Given the description of an element on the screen output the (x, y) to click on. 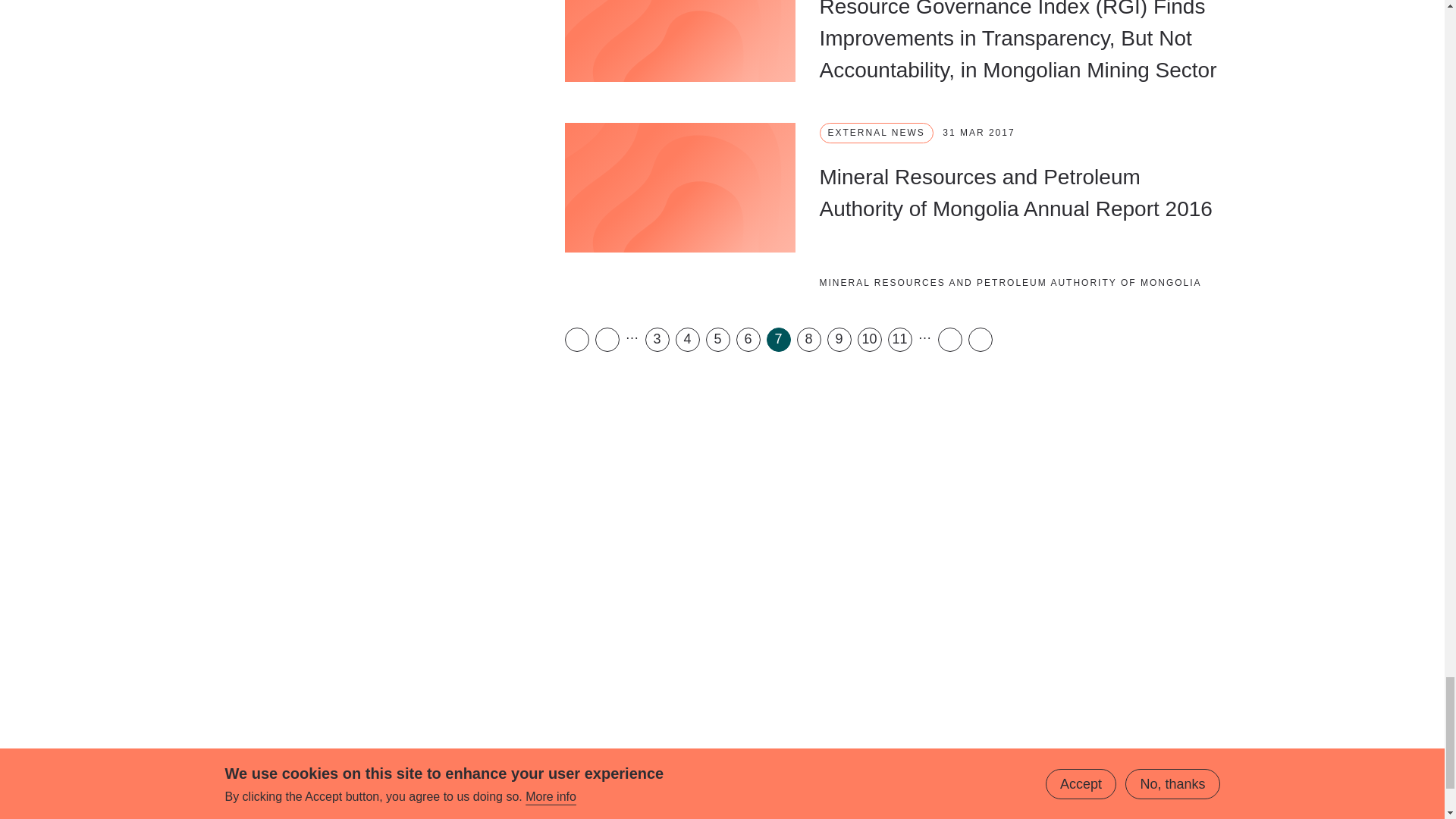
Go to page 4 (686, 339)
Go to page 8 (808, 339)
Go to page 9 (838, 339)
Go to page 3 (656, 339)
Current page (777, 339)
Go to page 5 (716, 339)
Go to first page (576, 339)
Go to previous page (606, 339)
Go to page 6 (747, 339)
